Given the description of an element on the screen output the (x, y) to click on. 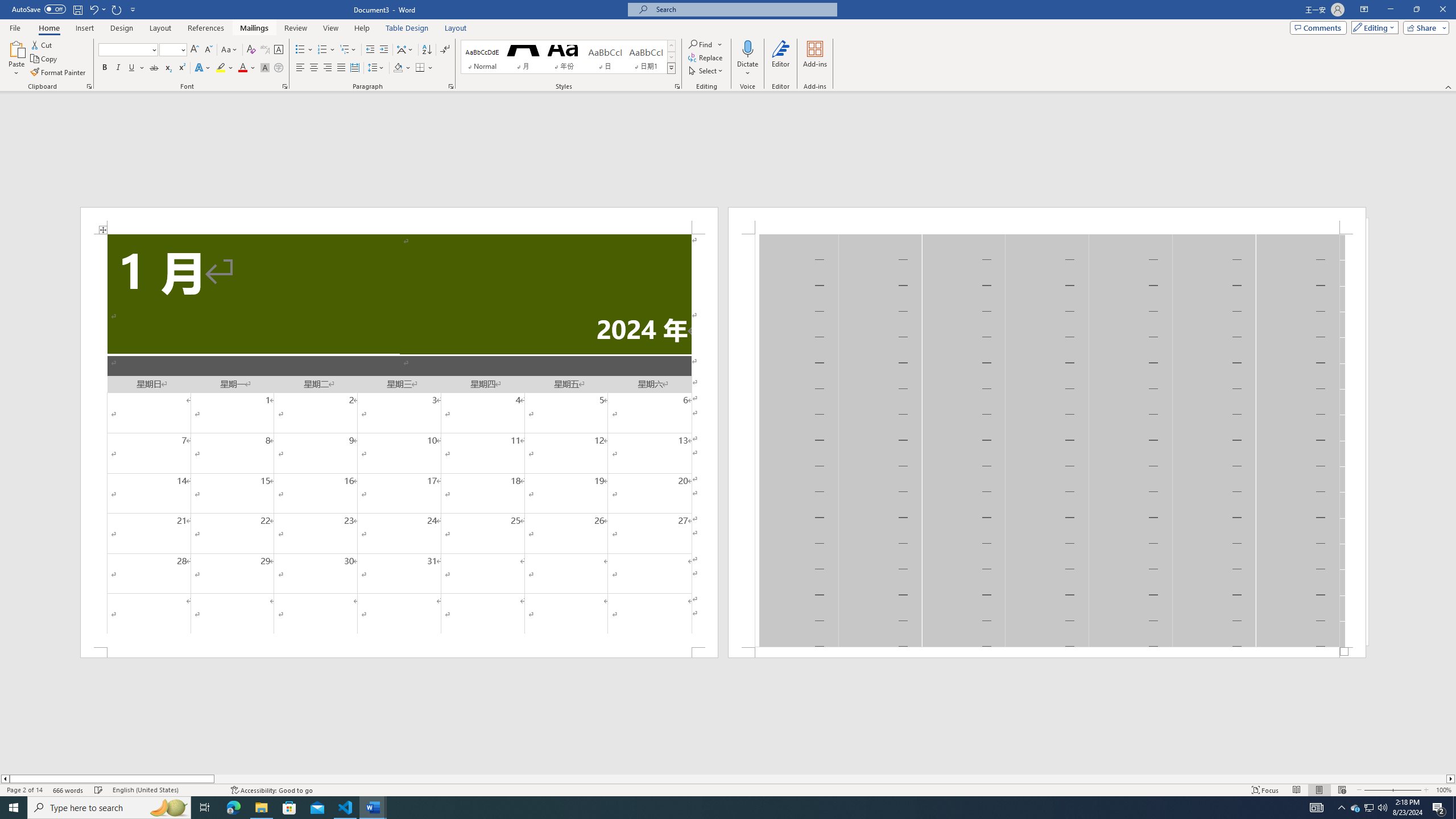
Column left (5, 778)
